Given the description of an element on the screen output the (x, y) to click on. 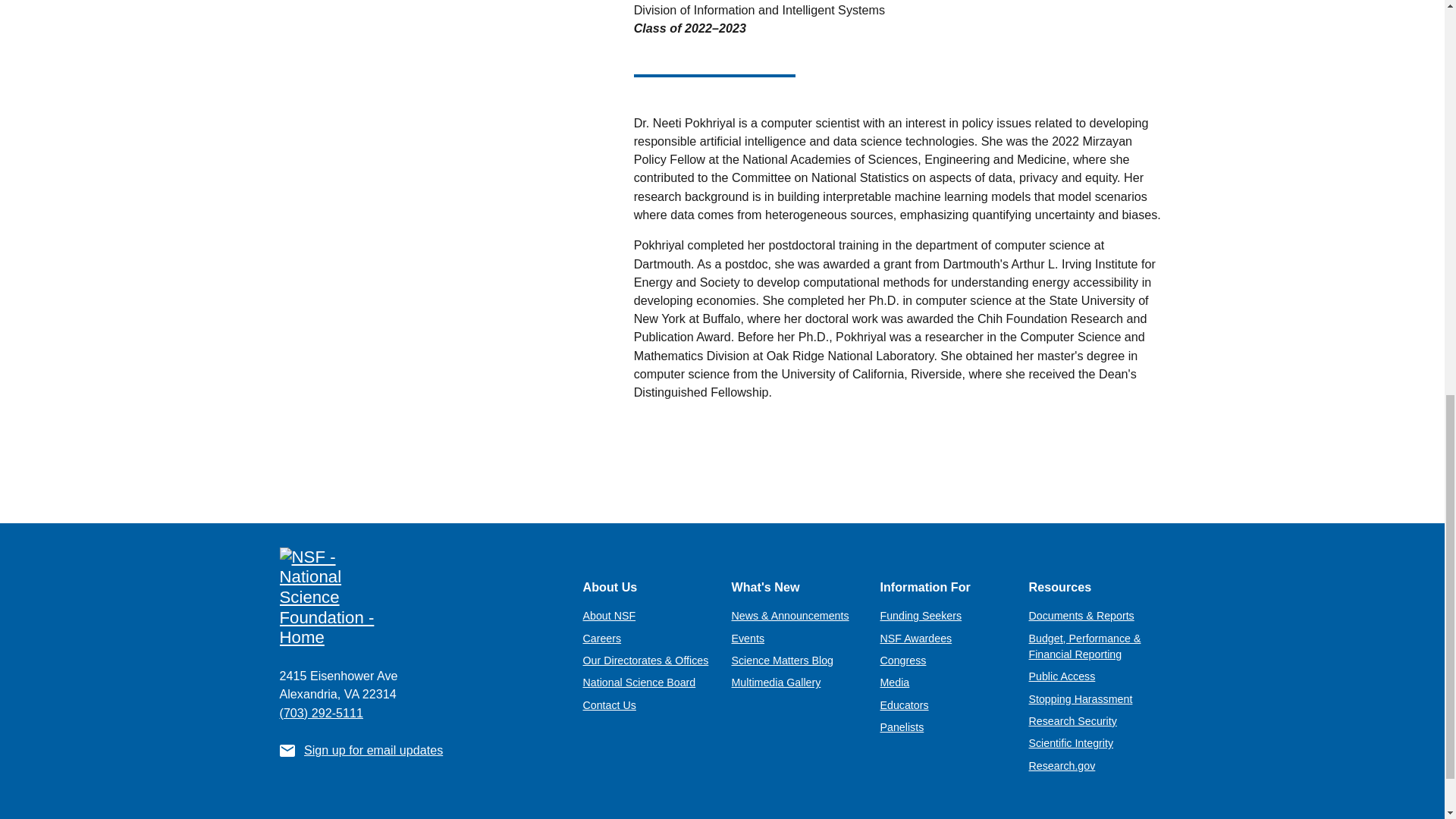
Sign up for email updates (373, 749)
NSF - National Science Foundation - Home (418, 597)
Careers (601, 638)
About NSF (608, 615)
